Given the description of an element on the screen output the (x, y) to click on. 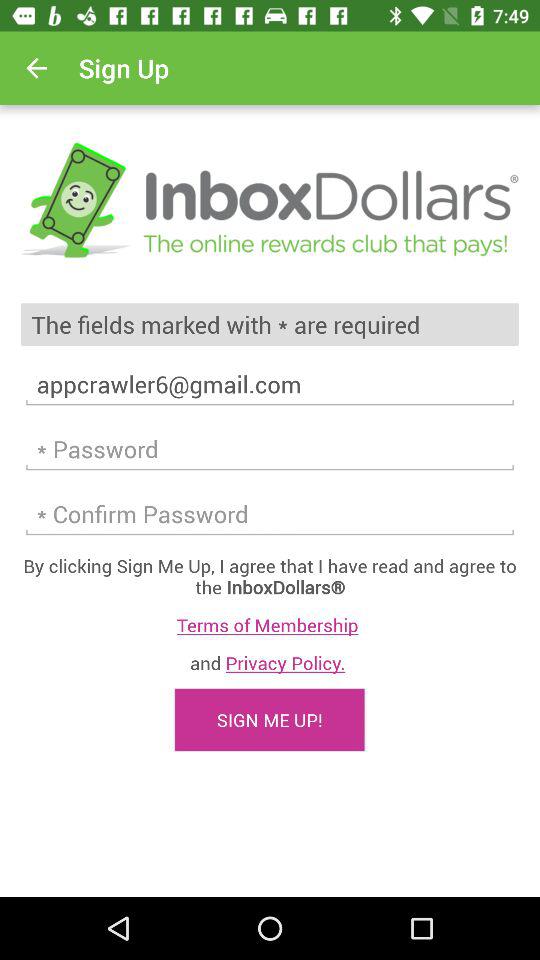
flip to terms of membership (270, 624)
